Given the description of an element on the screen output the (x, y) to click on. 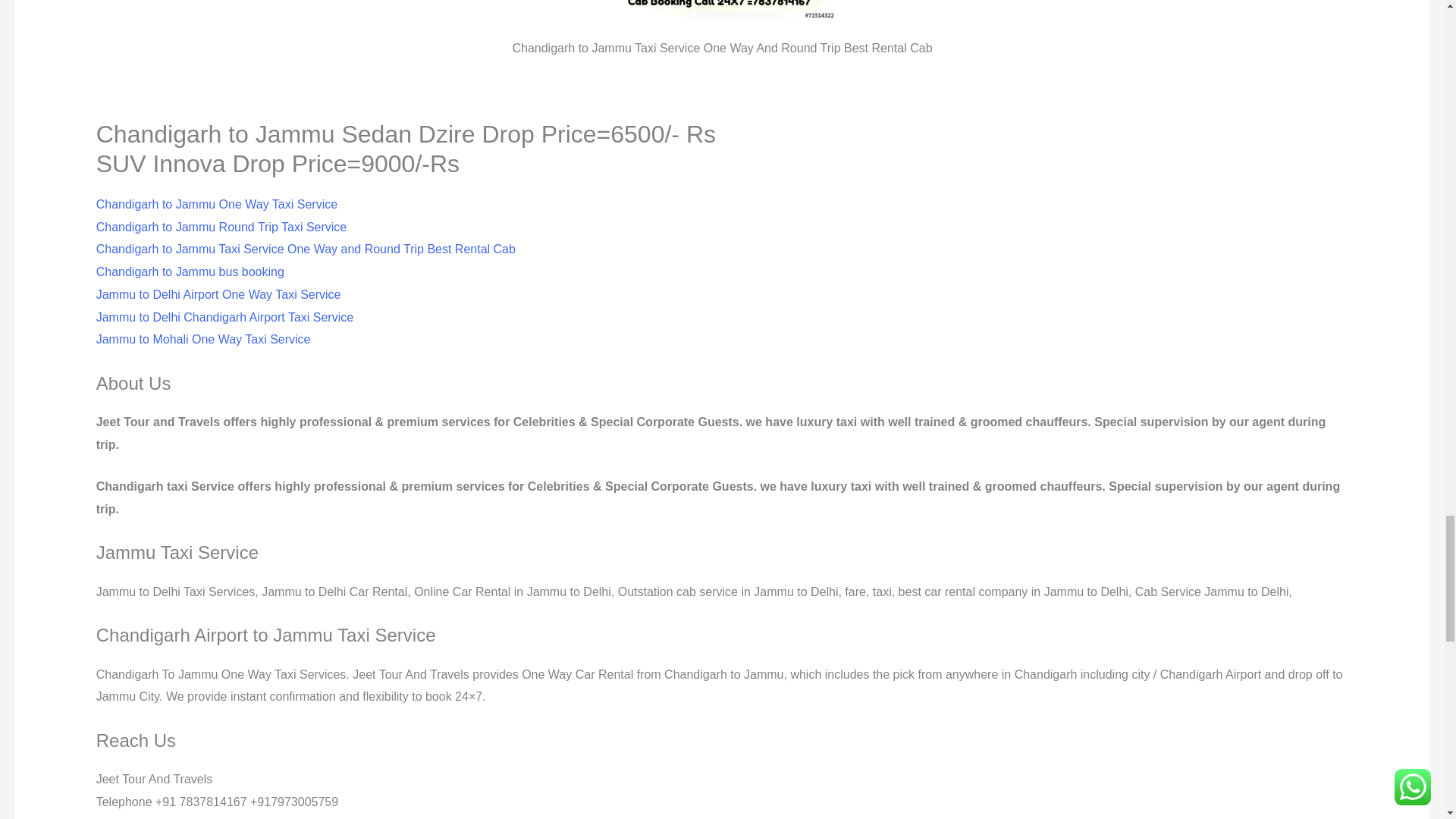
Jammu to Mohali One Way Taxi Service (203, 338)
Jammu to Delhi Airport One Way Taxi Service (218, 294)
Chandigarh to Jammu Round Trip Taxi Service (221, 226)
Jammu to Delhi Chandigarh Airport Taxi Service (224, 317)
Chandigarh to Jammu bus booking (189, 271)
Chandigarh to Jammu One Way Taxi Service (216, 204)
